Given the description of an element on the screen output the (x, y) to click on. 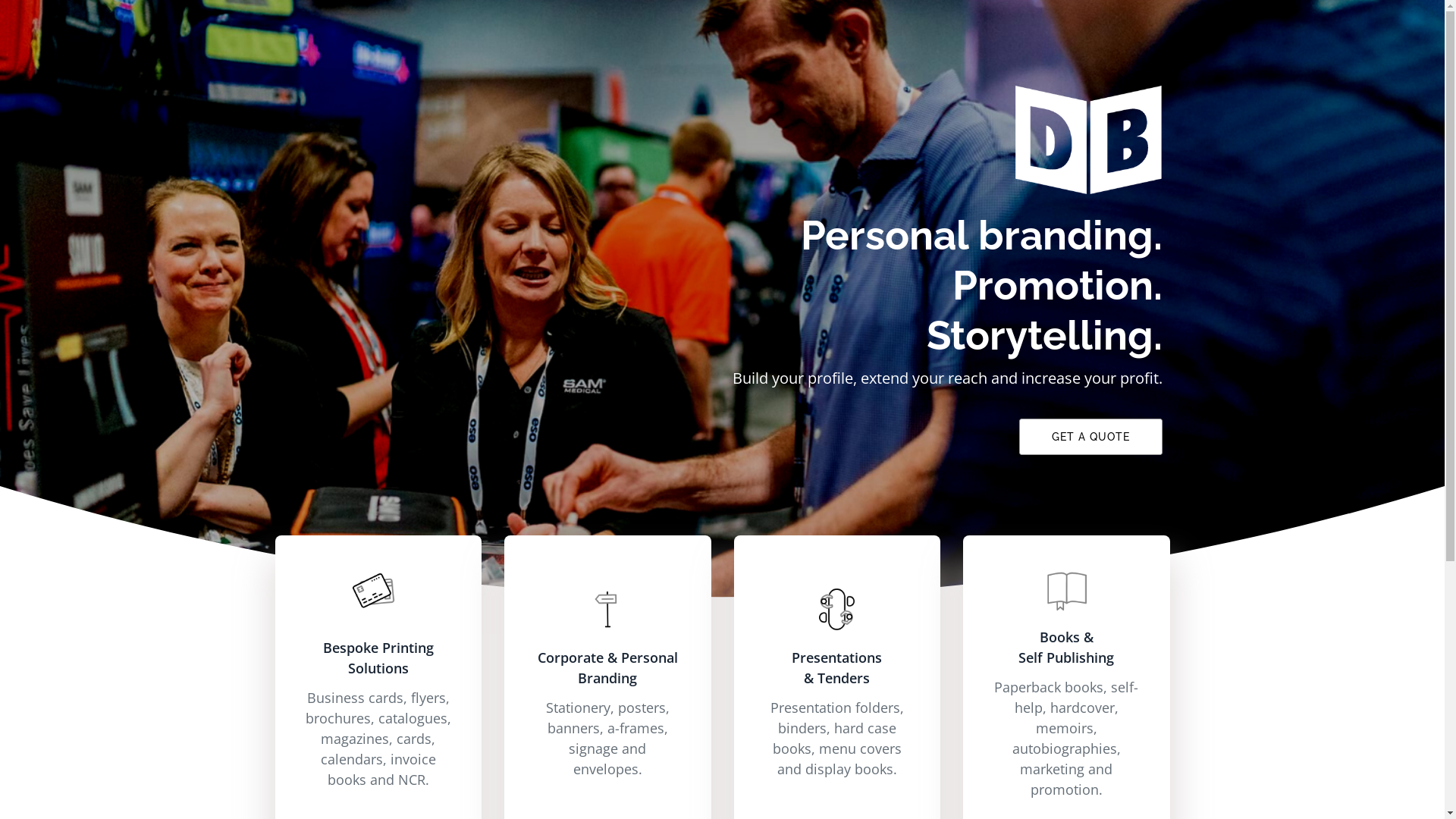
GET A QUOTE Element type: text (1090, 436)
Doing Business Element type: hover (1087, 139)
